Given the description of an element on the screen output the (x, y) to click on. 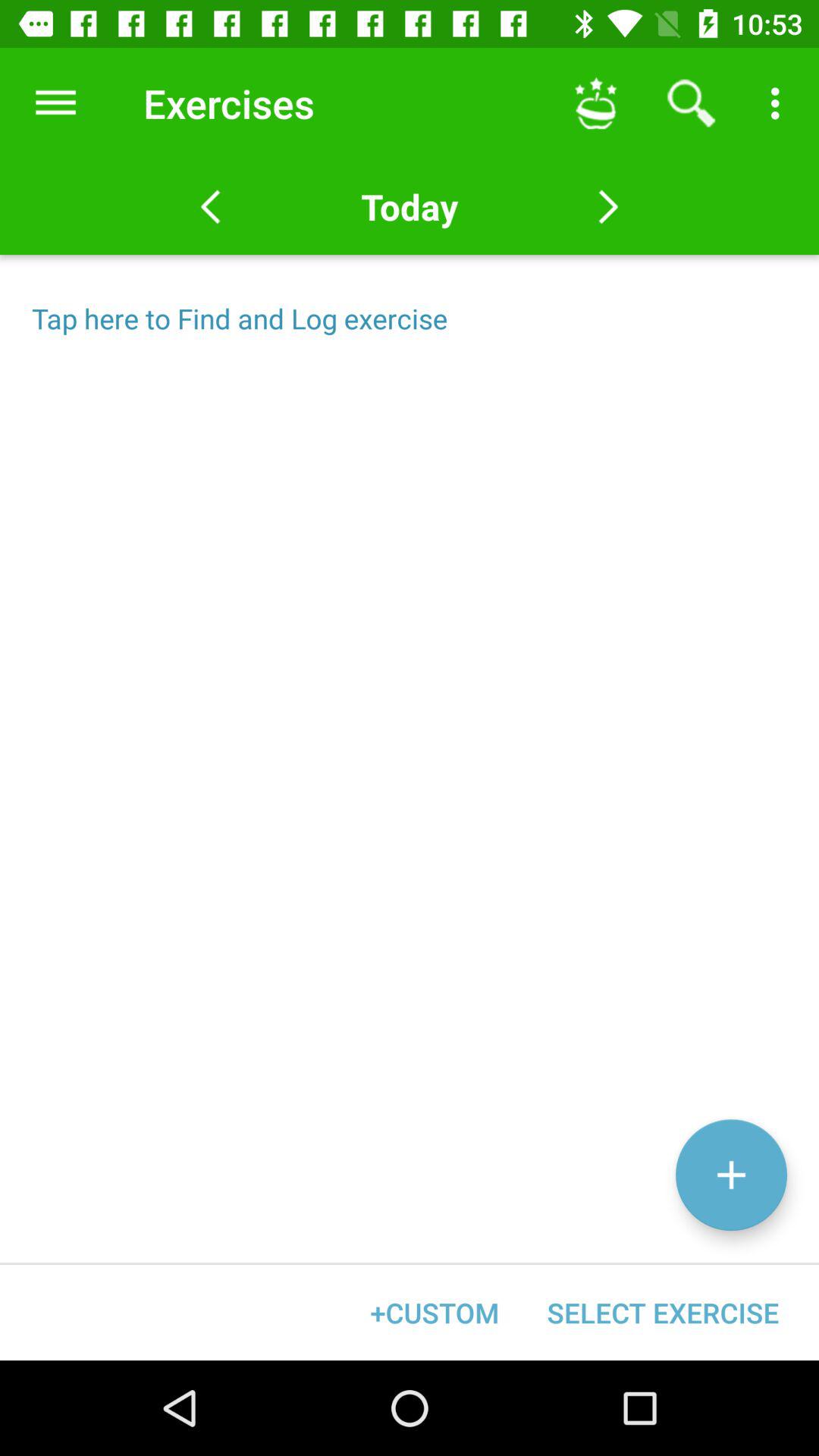
go to tomorrow 's exercises (608, 206)
